Given the description of an element on the screen output the (x, y) to click on. 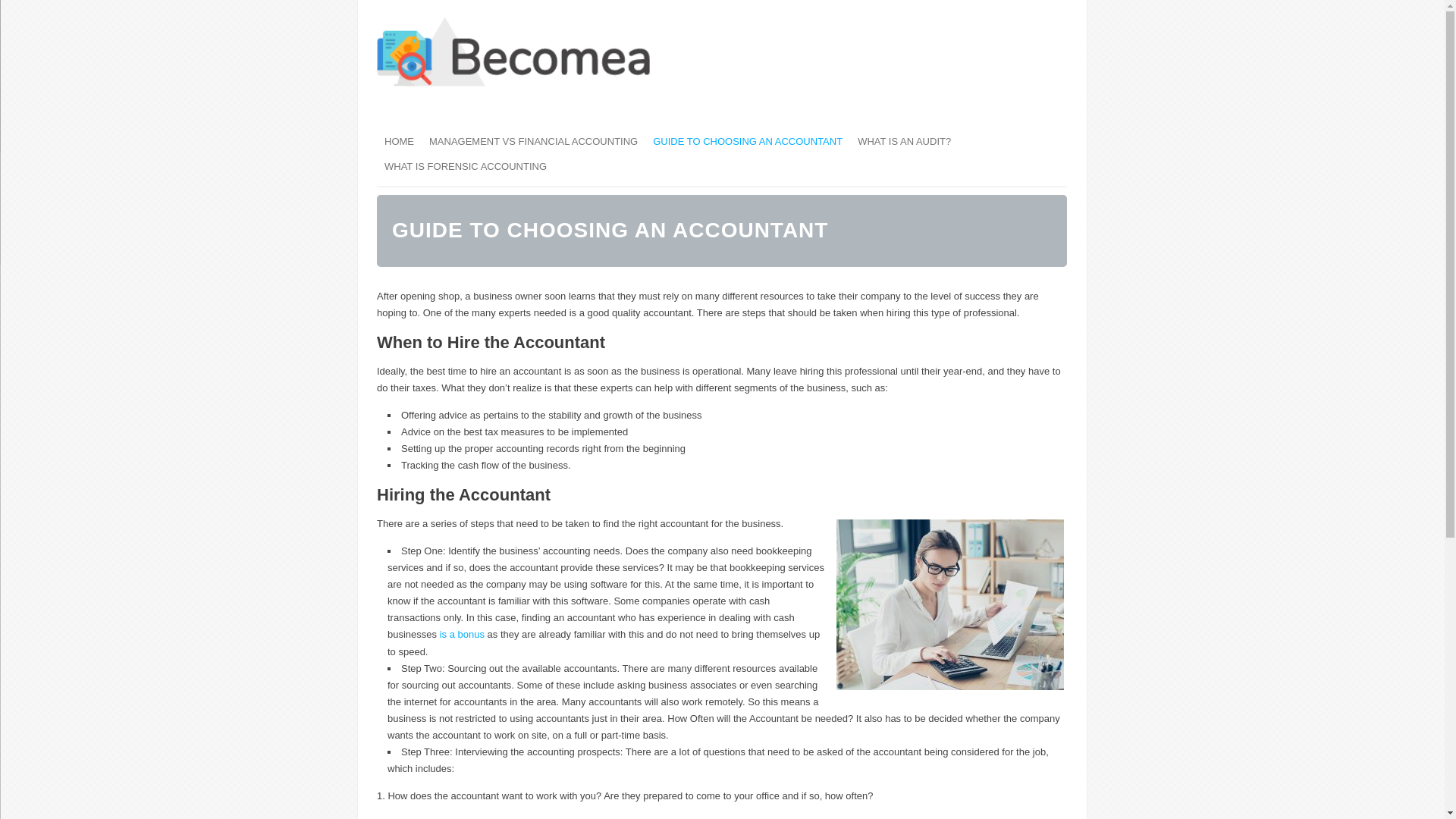
is a bonus Element type: text (461, 634)
GUIDE TO CHOOSING AN ACCOUNTANT Element type: text (747, 140)
HOME Element type: text (398, 140)
WHAT IS AN AUDIT? Element type: text (904, 140)
WHAT IS FORENSIC ACCOUNTING Element type: text (465, 165)
MANAGEMENT VS FINANCIAL ACCOUNTING Element type: text (533, 140)
